Given the description of an element on the screen output the (x, y) to click on. 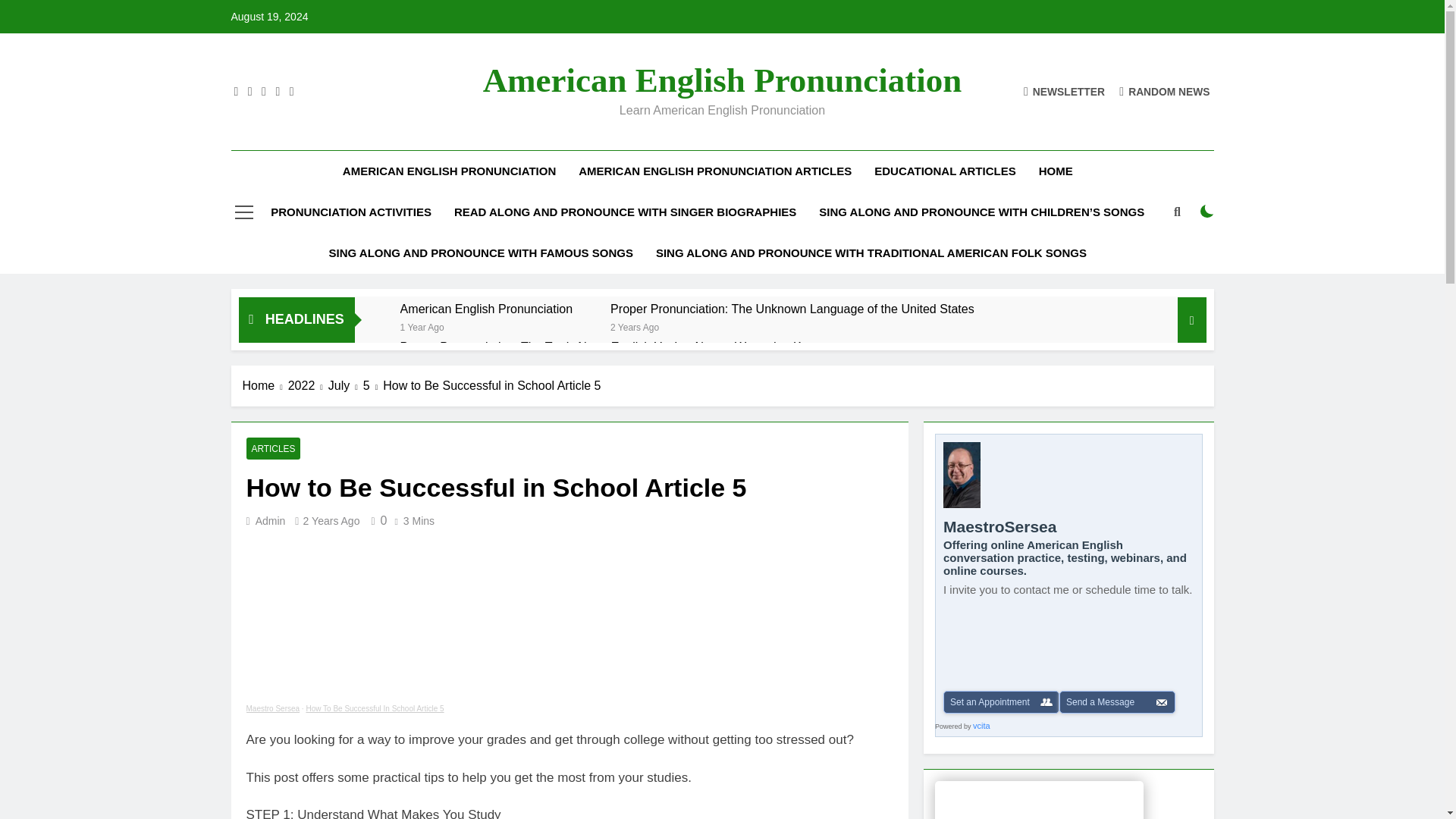
on (1206, 211)
PRONUNCIATION ACTIVITIES (350, 211)
American English Pronunciation (722, 80)
HOME (1055, 170)
Home (265, 385)
1 Year Ago (422, 326)
READ ALONG AND PRONOUNCE WITH SINGER BIOGRAPHIES (625, 211)
AMERICAN ENGLISH PRONUNCIATION (449, 170)
Maestro Sersea (272, 708)
